Given the description of an element on the screen output the (x, y) to click on. 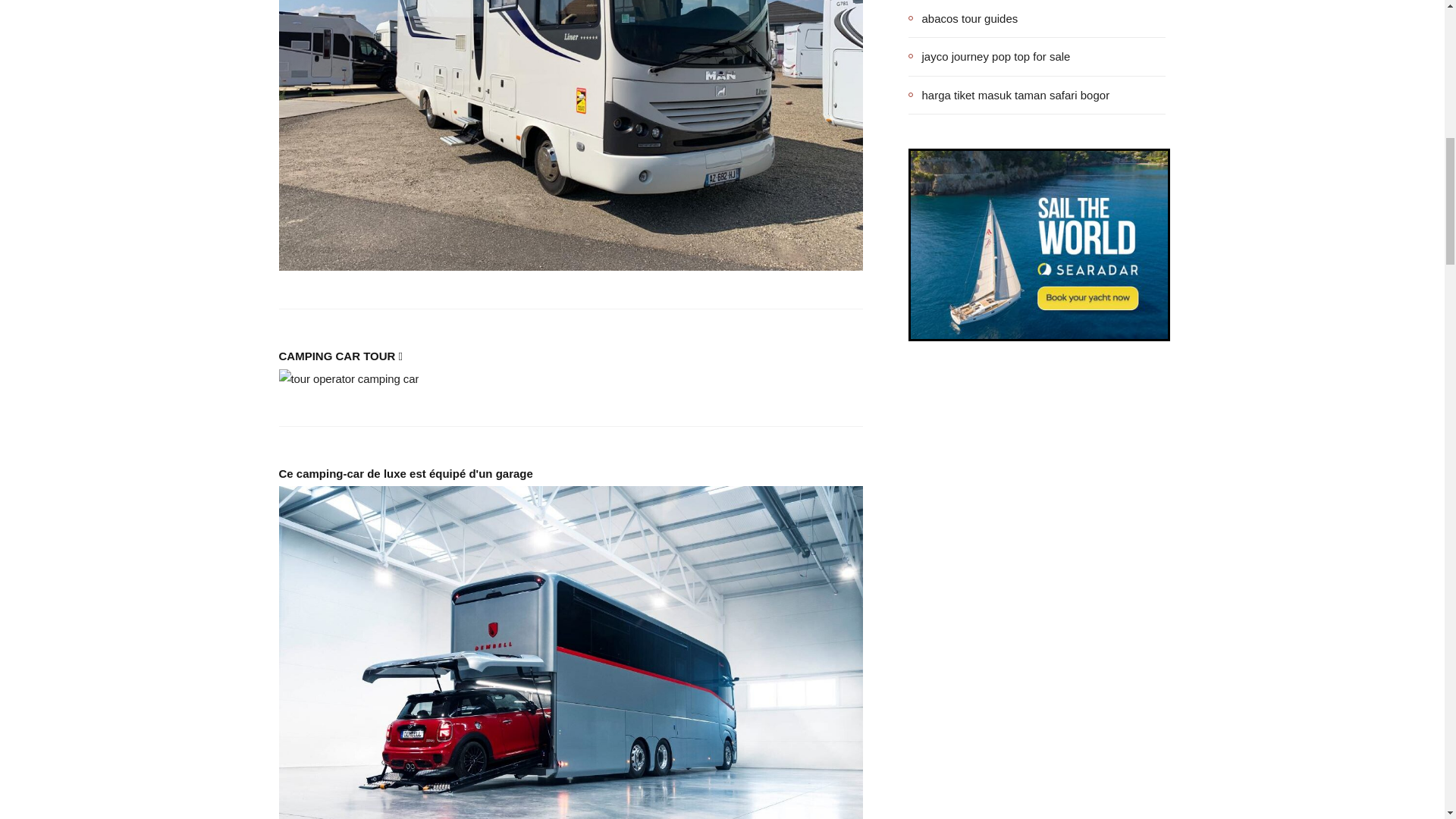
tour operator camping car (349, 379)
harga tiket masuk taman safari bogor (1008, 94)
jayco journey pop top for sale (989, 56)
abacos tour guides (962, 18)
